Given the description of an element on the screen output the (x, y) to click on. 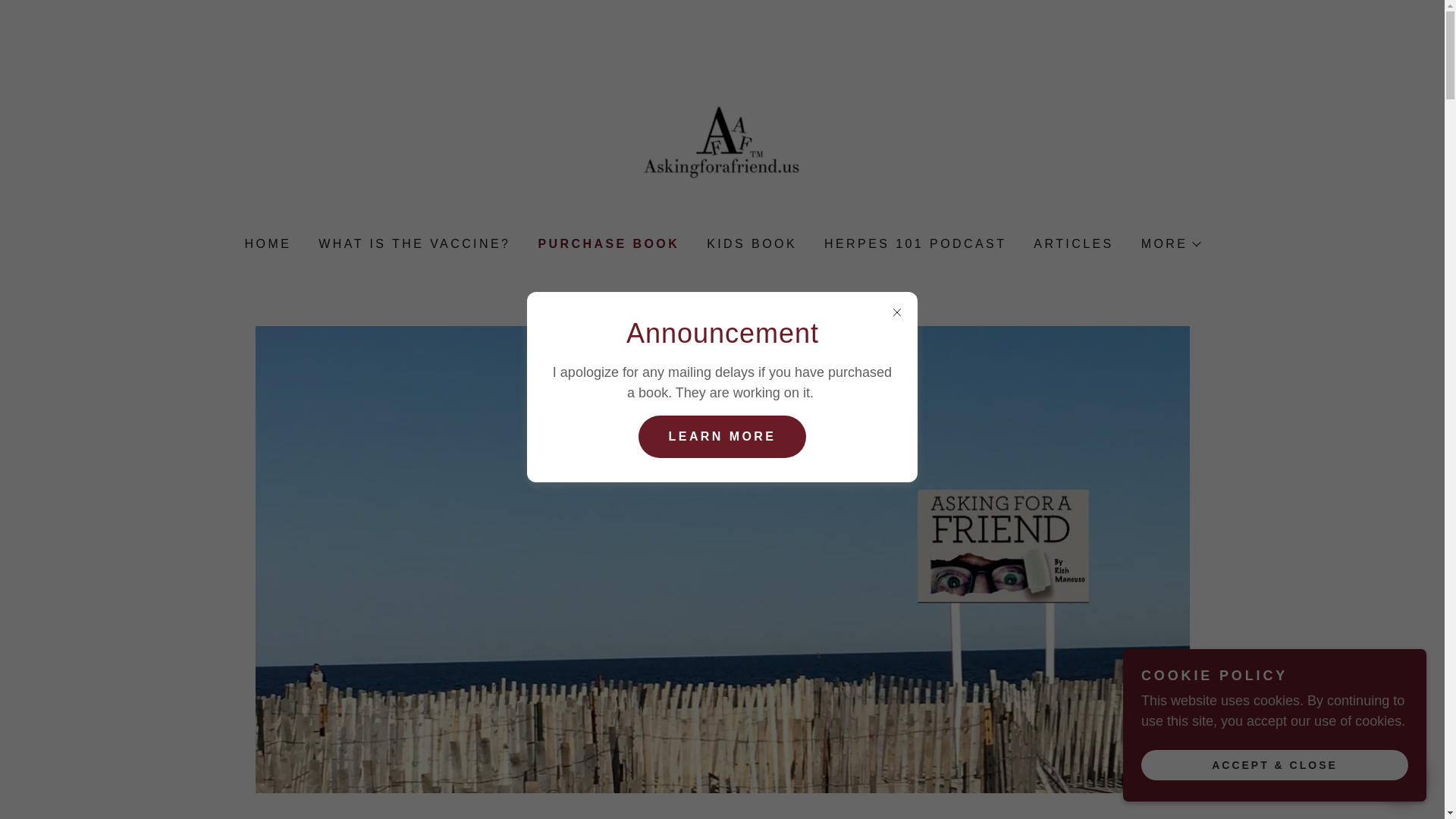
WHAT IS THE VACCINE? (413, 243)
HERPES 101 PODCAST (913, 243)
ARTICLES (1072, 243)
ASKING FOR A FRIEND (721, 140)
HOME (267, 243)
KIDS BOOK (750, 243)
MORE (1171, 244)
PURCHASE BOOK (606, 244)
